Given the description of an element on the screen output the (x, y) to click on. 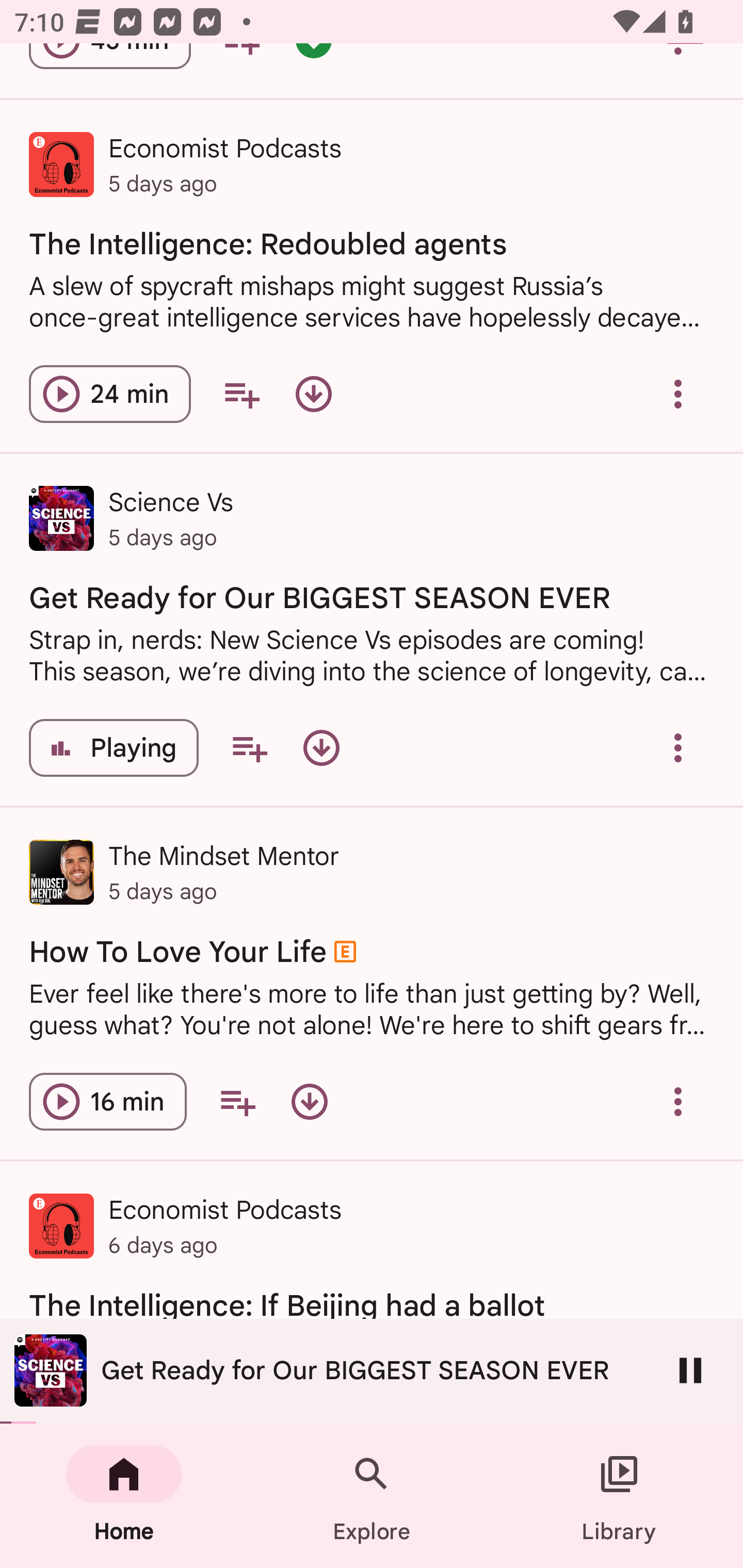
Add to your queue (241, 394)
Download episode (313, 394)
Overflow menu (677, 394)
Add to your queue (249, 747)
Download episode (321, 747)
Overflow menu (677, 747)
Play episode How To Love Your Life 16 min (107, 1101)
Add to your queue (237, 1101)
Download episode (309, 1101)
Overflow menu (677, 1101)
Pause (690, 1370)
Explore (371, 1495)
Library (619, 1495)
